Given the description of an element on the screen output the (x, y) to click on. 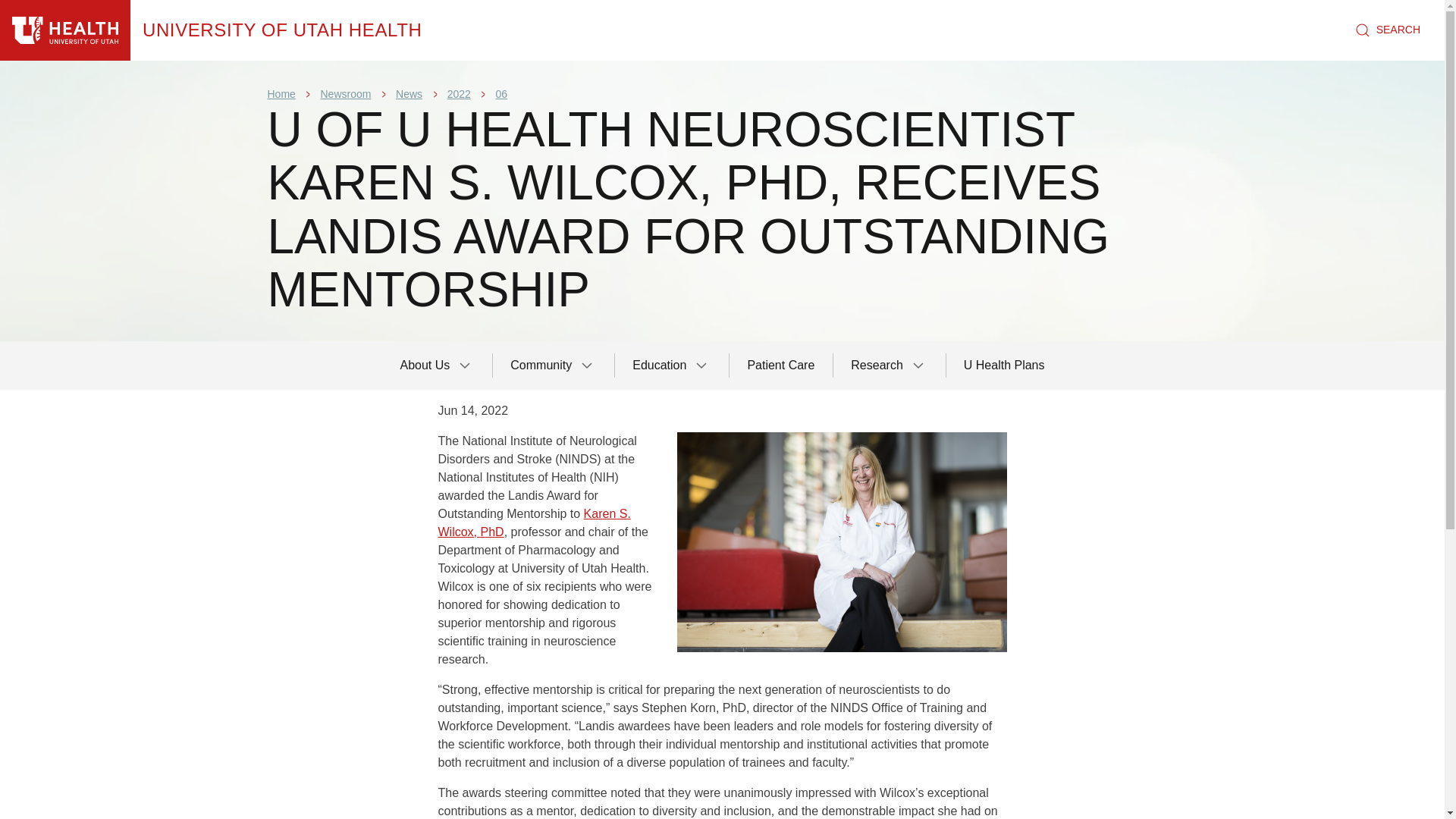
UNIVERSITY OF UTAH HEALTH (282, 30)
News (409, 93)
Home (280, 93)
Home (282, 30)
About Us (436, 365)
Patient Care (780, 365)
U Health Plans (1003, 365)
Education (671, 365)
2022 (458, 93)
